Given the description of an element on the screen output the (x, y) to click on. 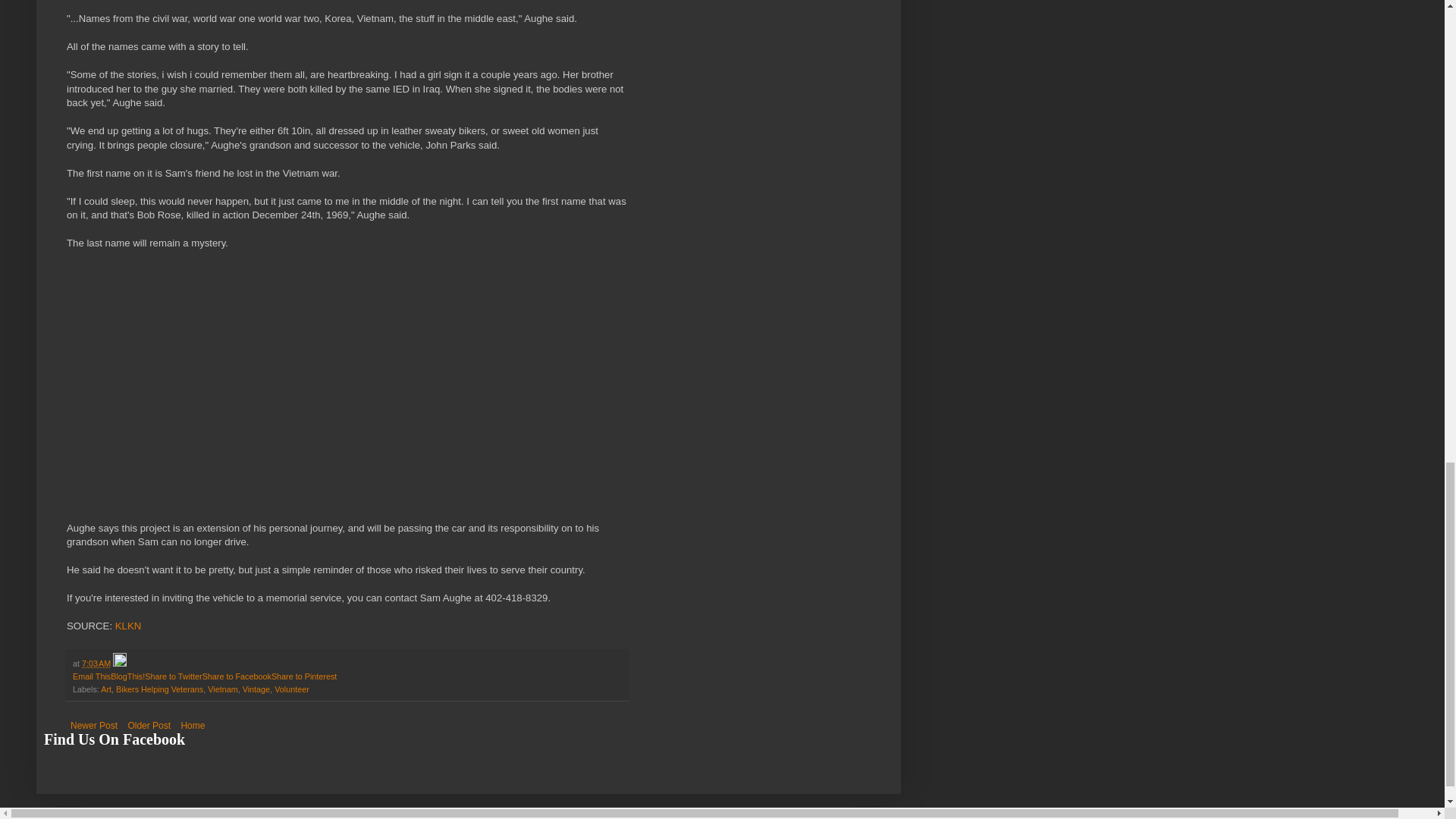
KLKN (128, 625)
Share to Twitter (173, 675)
Bikers Helping Veterans (159, 688)
Vintage (256, 688)
Older Post (148, 725)
Edit Post (119, 663)
BlogThis! (127, 675)
Share to Facebook (236, 675)
Share to Twitter (173, 675)
Share to Facebook (236, 675)
Newer Post (93, 725)
Older Post (148, 725)
Email This (91, 675)
Email This (91, 675)
